Given the description of an element on the screen output the (x, y) to click on. 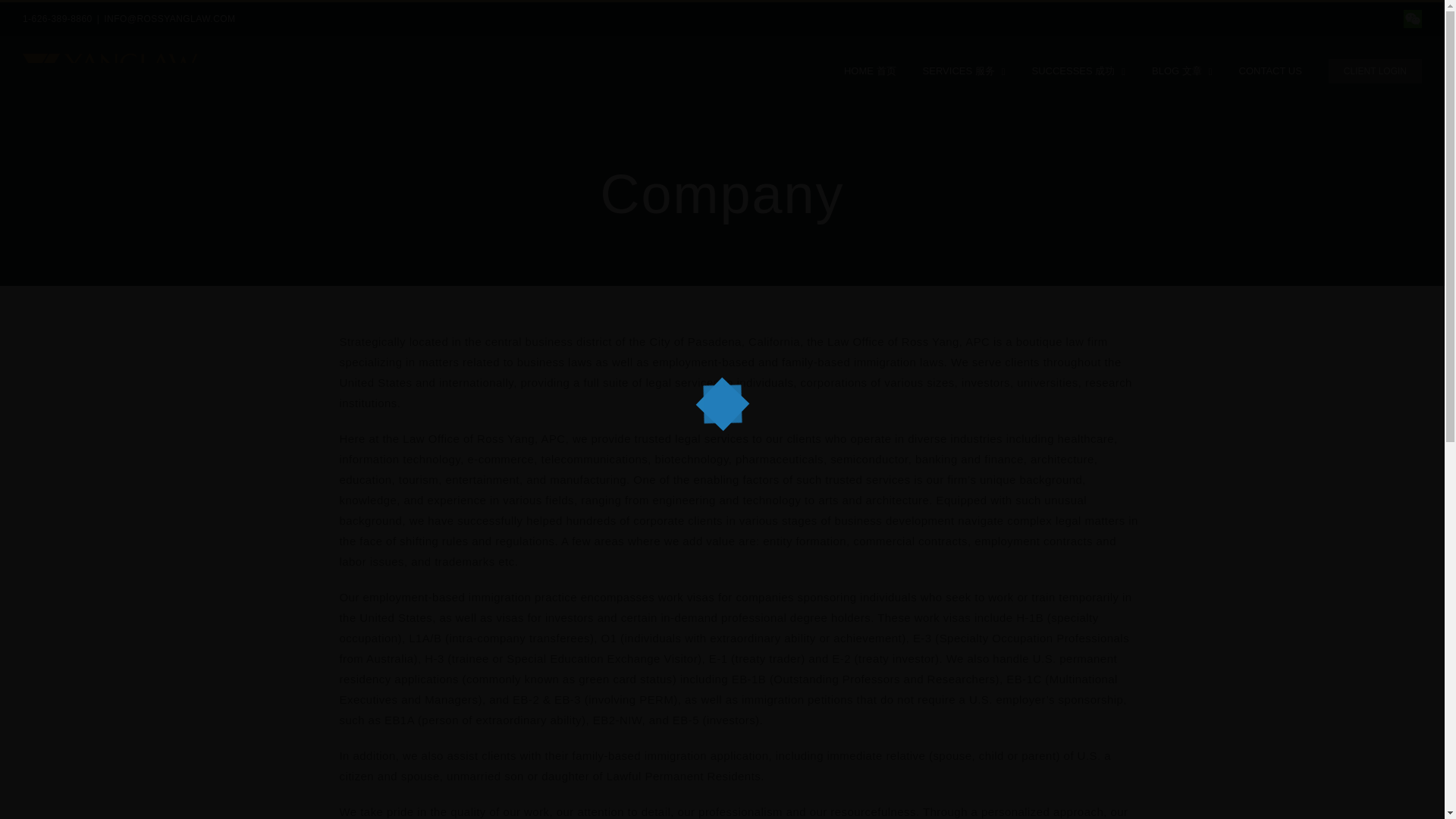
CLIENT LOGIN (1374, 69)
Custom (1412, 18)
CONTACT US (1270, 69)
Custom (1412, 18)
